Given the description of an element on the screen output the (x, y) to click on. 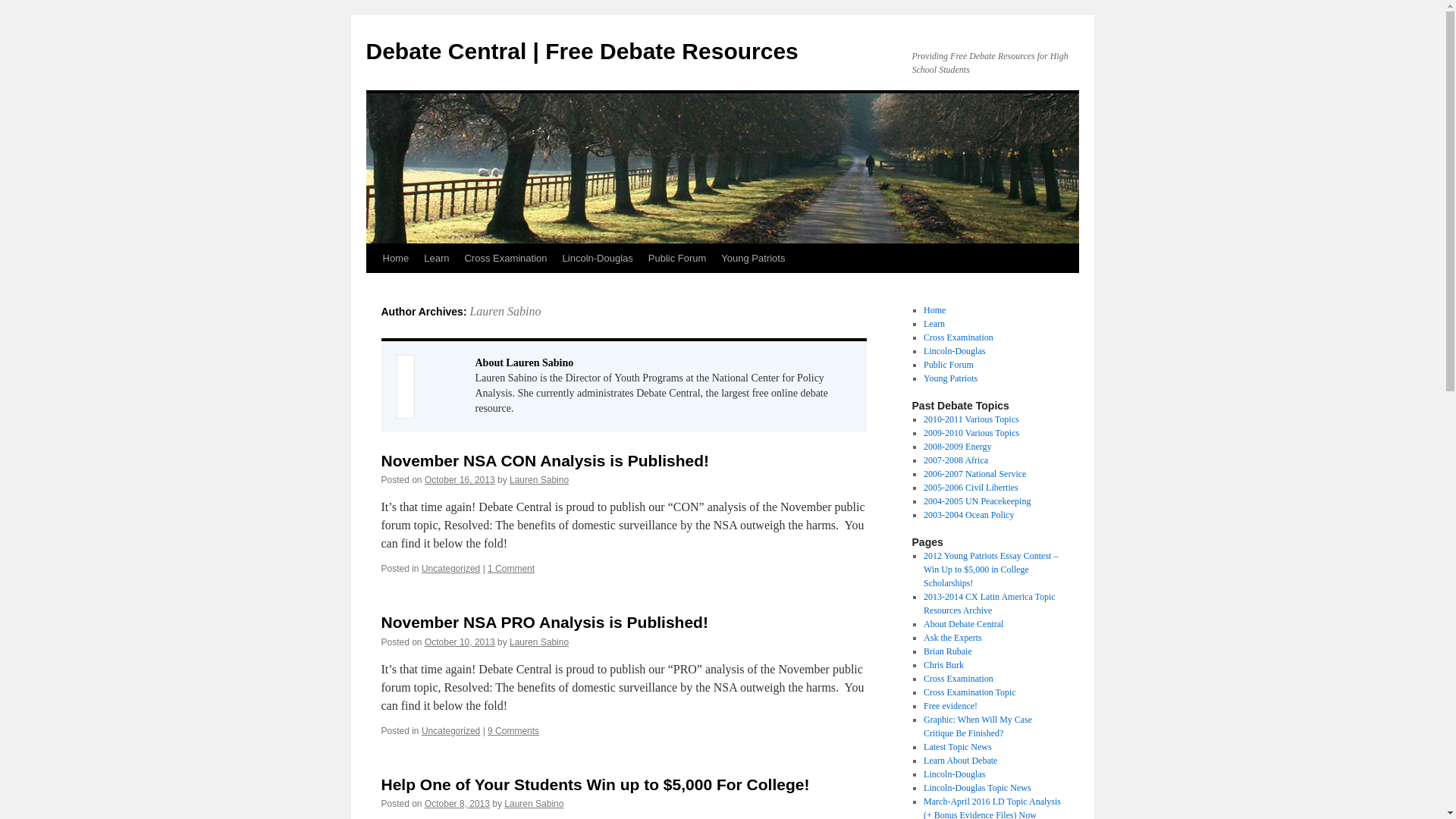
Uncategorized (451, 568)
2:26 pm (460, 480)
November NSA PRO Analysis is Published! (543, 621)
10:35 am (460, 642)
Uncategorized (451, 730)
October 16, 2013 (460, 480)
Lauren Sabino (504, 310)
Lauren Sabino (539, 480)
Cross Examination (505, 258)
November NSA CON Analysis is Published! (544, 460)
